Given the description of an element on the screen output the (x, y) to click on. 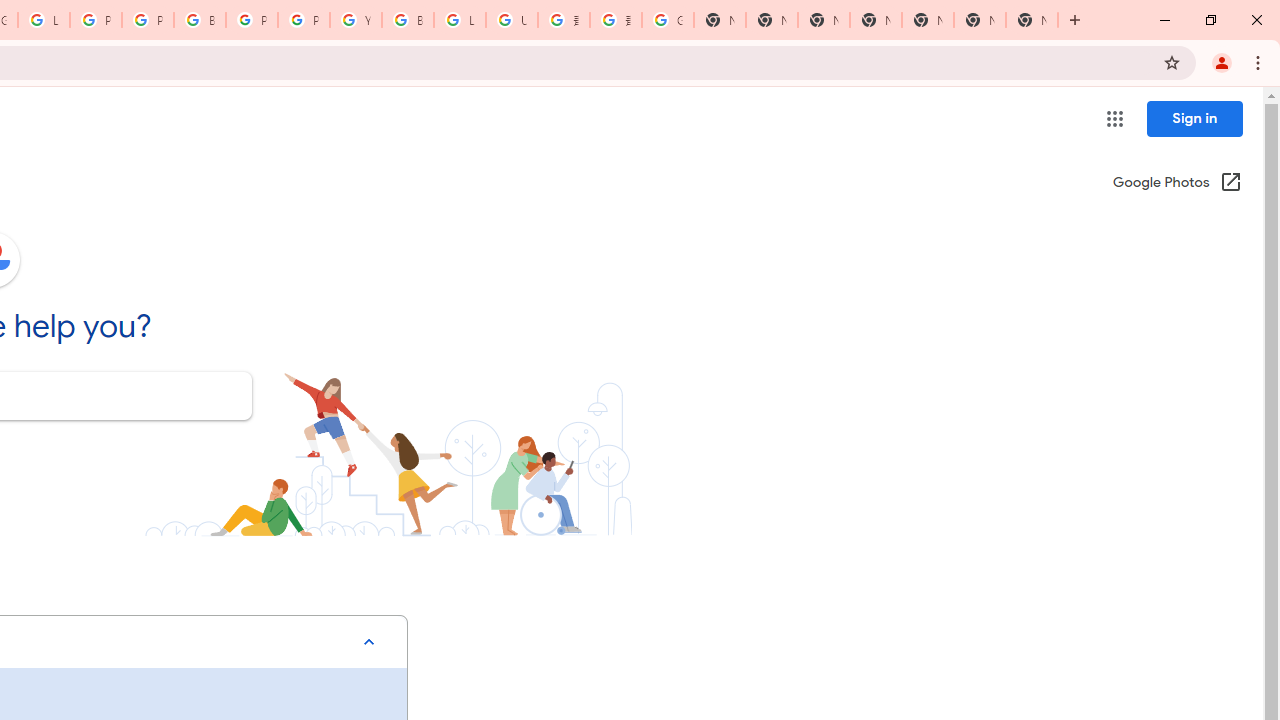
Privacy Help Center - Policies Help (95, 20)
Privacy Help Center - Policies Help (147, 20)
Google Photos (Open in a new window) (1177, 183)
New Tab (1032, 20)
